Given the description of an element on the screen output the (x, y) to click on. 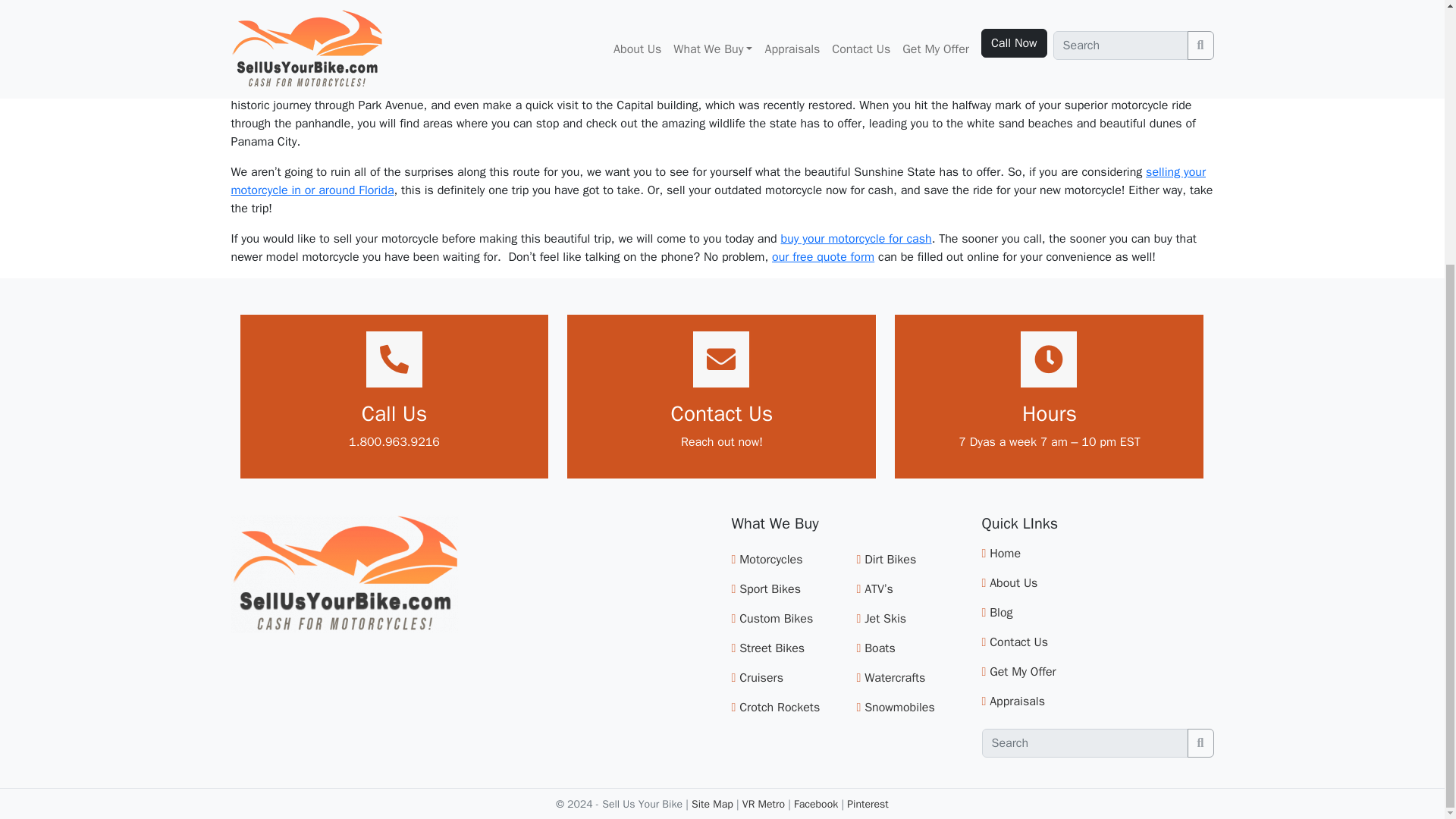
Cash For Motorcycles (855, 238)
Motorcycles (770, 559)
our free quote form (823, 256)
Jet Skis (884, 618)
selling your motorcycle in or around Florida (717, 181)
Dirt Bikes (889, 559)
Sell a Motorcycle in Florida (717, 181)
Cruisers (761, 677)
1.800.963.9216 (394, 441)
Free Online Quote Form (823, 256)
Street Bikes (772, 648)
Custom Bikes (775, 618)
Crotch Rockets (779, 707)
Reach out now! (721, 441)
buy your motorcycle for cash (855, 238)
